Given the description of an element on the screen output the (x, y) to click on. 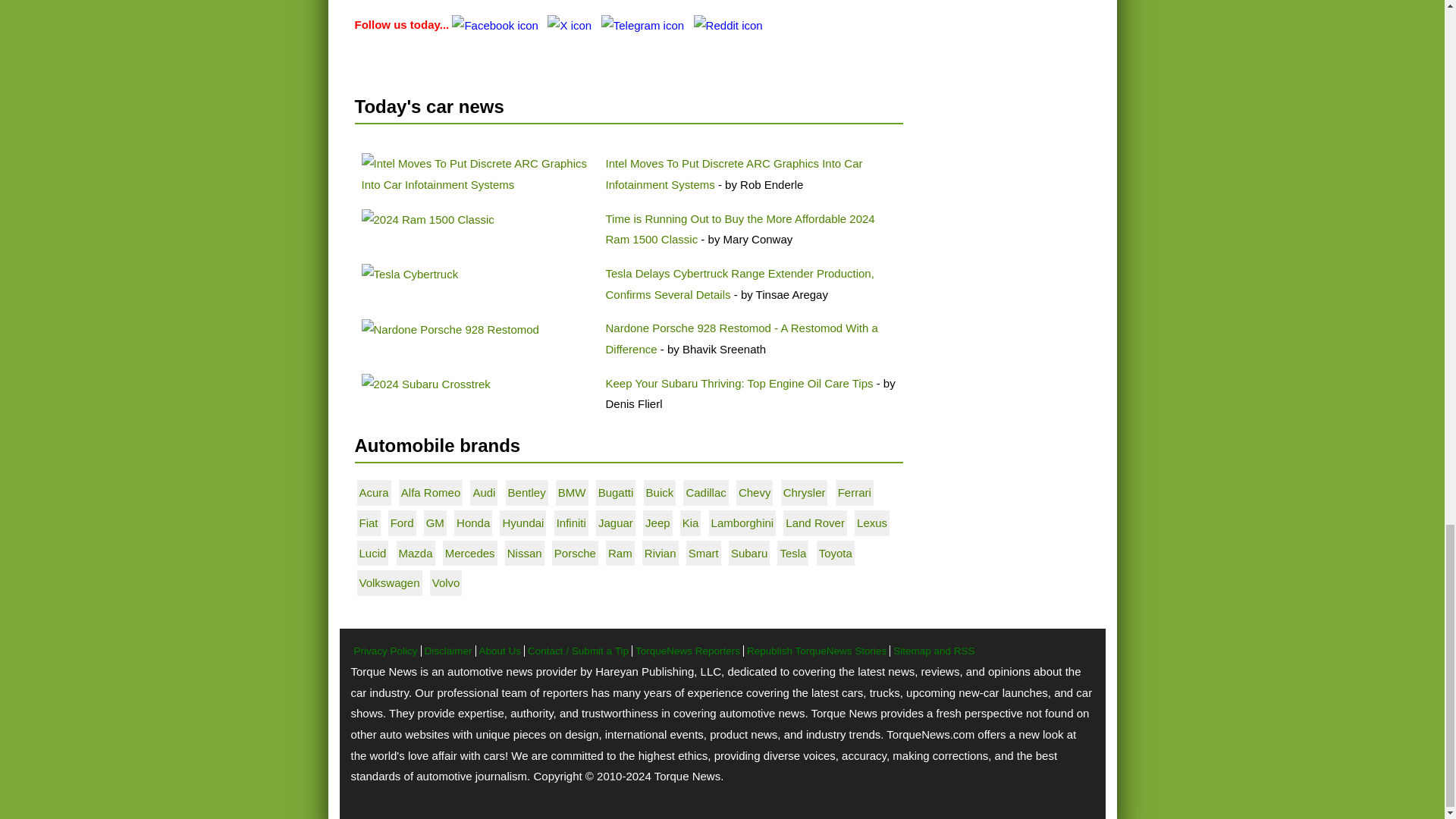
Alfa Romeo (430, 492)
2024 Subaru Crosstrek synthetic oil check (425, 383)
BMW (571, 492)
Audi (483, 492)
Nardone Porsche 928 Restomod (449, 329)
Join us on Telegram! (644, 24)
Acura (373, 492)
